Given the description of an element on the screen output the (x, y) to click on. 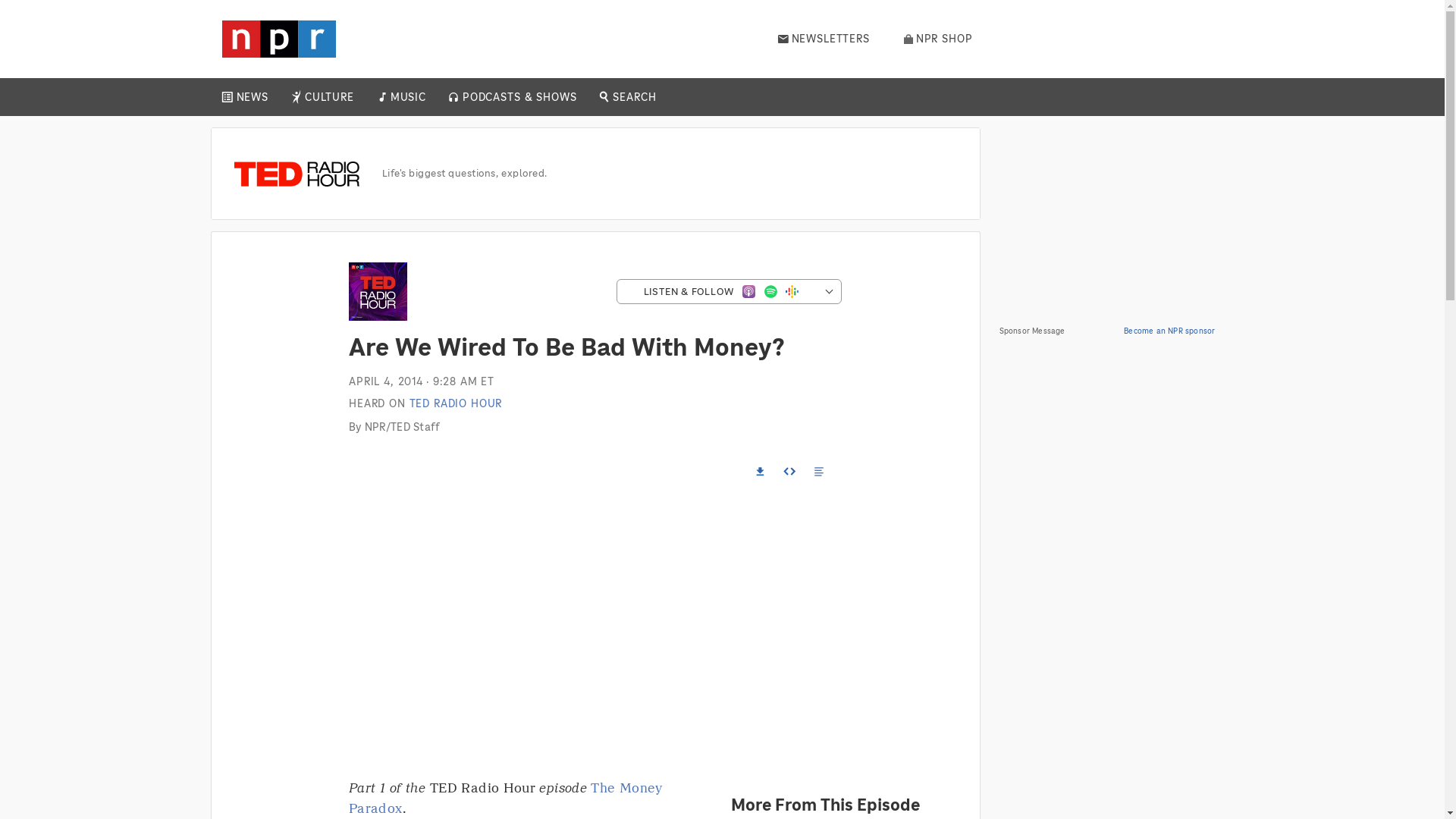
NPR SHOP (938, 38)
NEWS (251, 96)
NEWSLETTERS (823, 38)
CULTURE (328, 96)
MUSIC (407, 96)
